Given the description of an element on the screen output the (x, y) to click on. 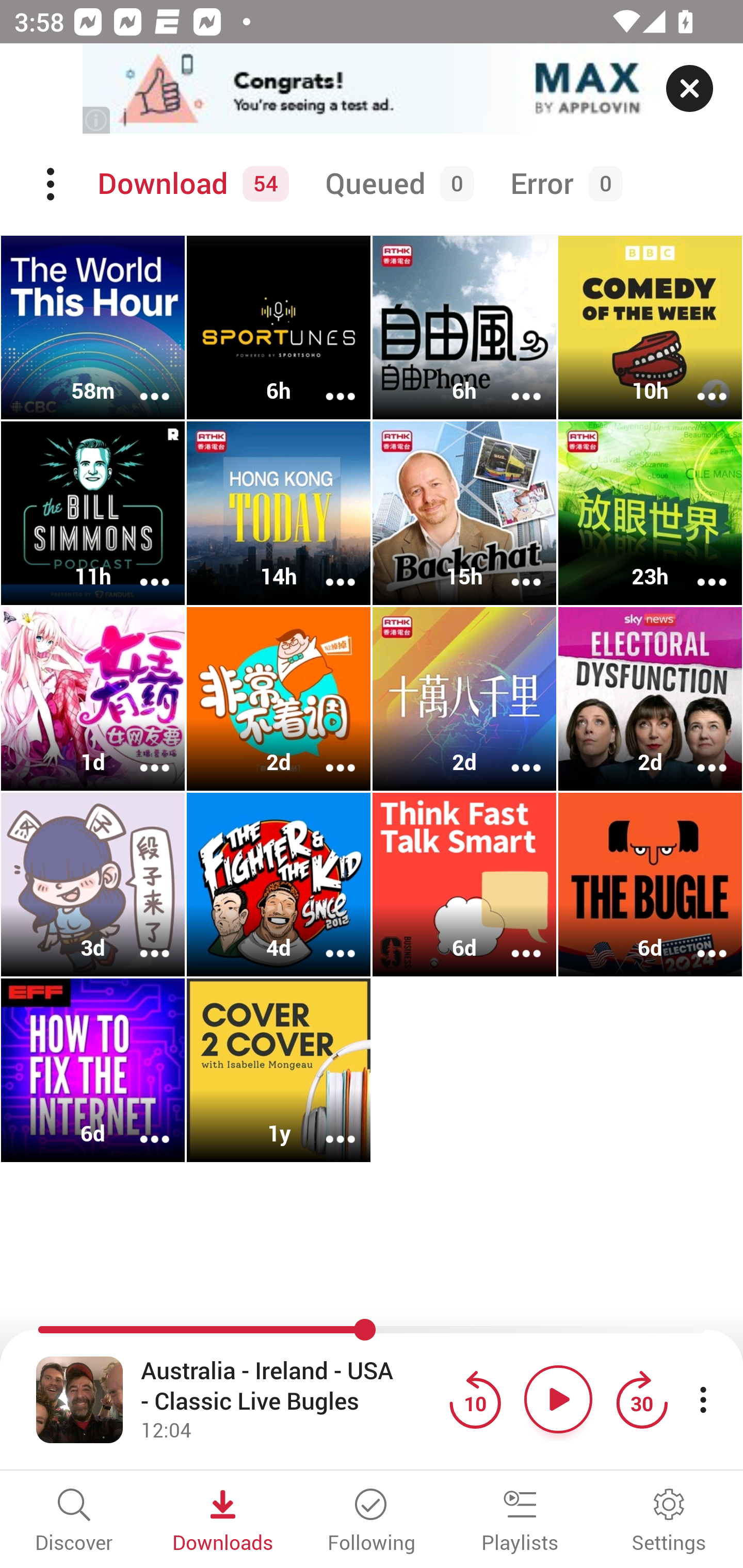
app-monetization (371, 88)
(i) (96, 119)
Menu (52, 184)
 Download 54 (189, 184)
 Queued 0 (396, 184)
 Error 0 (562, 184)
The World This Hour 58m More options More options (92, 327)
Sportunes HK 6h More options More options (278, 327)
自由风自由PHONE 6h More options More options (464, 327)
Comedy of the Week 10h More options More options (650, 327)
More options (141, 382)
More options (326, 382)
More options (512, 382)
More options (698, 382)
Hong Kong Today 14h More options More options (278, 513)
Backchat 15h More options More options (464, 513)
放眼世界 23h More options More options (650, 513)
More options (141, 569)
More options (326, 569)
More options (512, 569)
More options (698, 569)
女王有药丨爆笑脱口秀 1d More options More options (92, 698)
非常不着调 2d More options More options (278, 698)
十萬八千里 2d More options More options (464, 698)
Electoral Dysfunction 2d More options More options (650, 698)
More options (141, 754)
More options (326, 754)
More options (512, 754)
More options (698, 754)
段子来了 3d More options More options (92, 883)
The Fighter & The Kid 4d More options More options (278, 883)
The Bugle 6d More options More options (650, 883)
More options (141, 940)
More options (326, 940)
More options (512, 940)
More options (698, 940)
Cover 2 Cover 1y More options More options (278, 1069)
More options (141, 1125)
More options (326, 1125)
Open fullscreen player (79, 1399)
More player controls (703, 1399)
Australia - Ireland - USA - Classic Live Bugles (290, 1385)
Play button (558, 1398)
Jump back (475, 1399)
Jump forward (641, 1399)
Discover (74, 1521)
Downloads (222, 1521)
Following (371, 1521)
Playlists (519, 1521)
Settings (668, 1521)
